Given the description of an element on the screen output the (x, y) to click on. 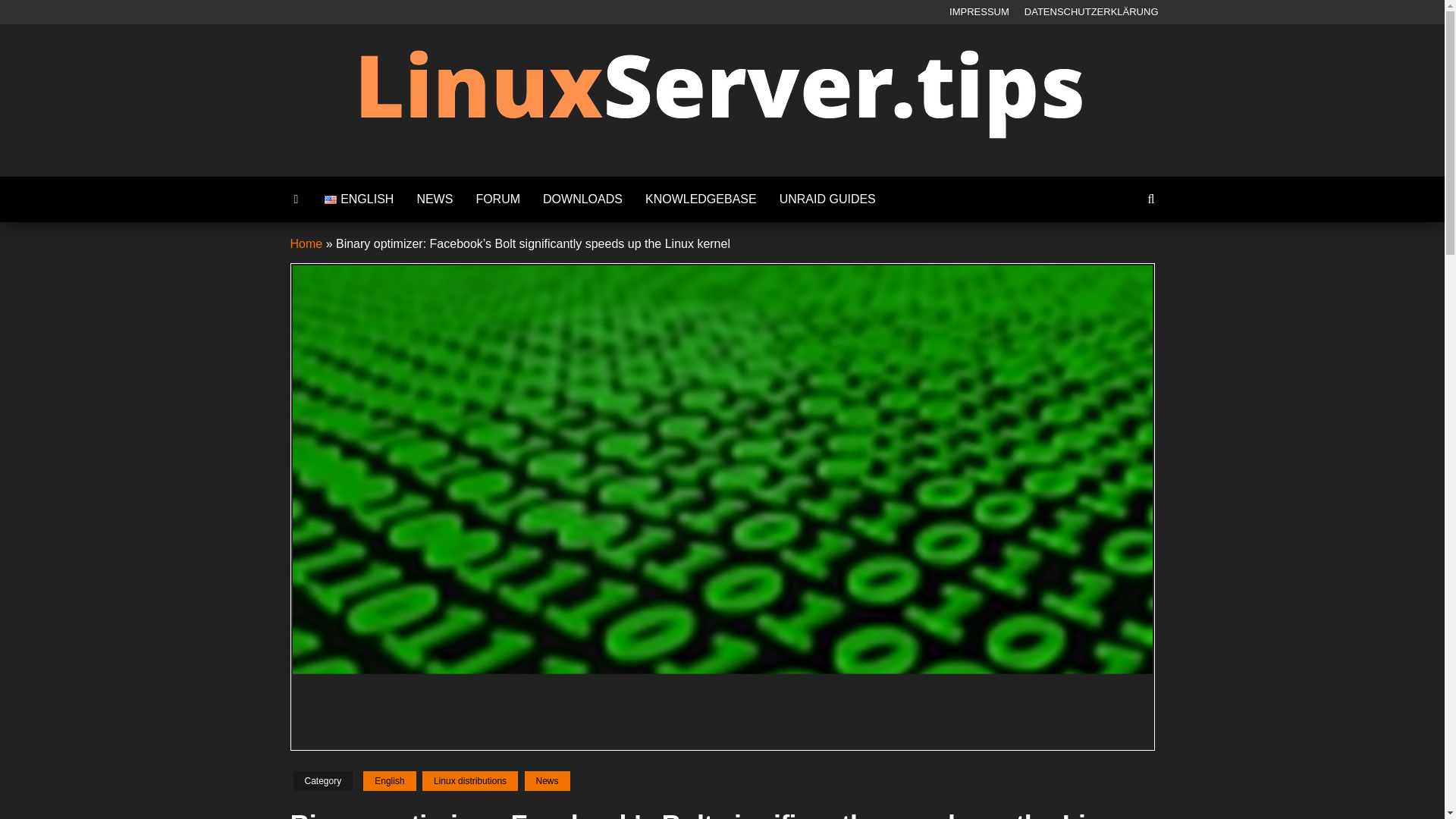
KNOWLEDGEBASE (700, 198)
ENGLISH (358, 198)
English (388, 781)
LinuxServer (767, 167)
Linux distributions (470, 781)
Home (305, 243)
Unraid Guides (827, 198)
News (434, 198)
Knowledgebase (700, 198)
NEWS (434, 198)
